Given the description of an element on the screen output the (x, y) to click on. 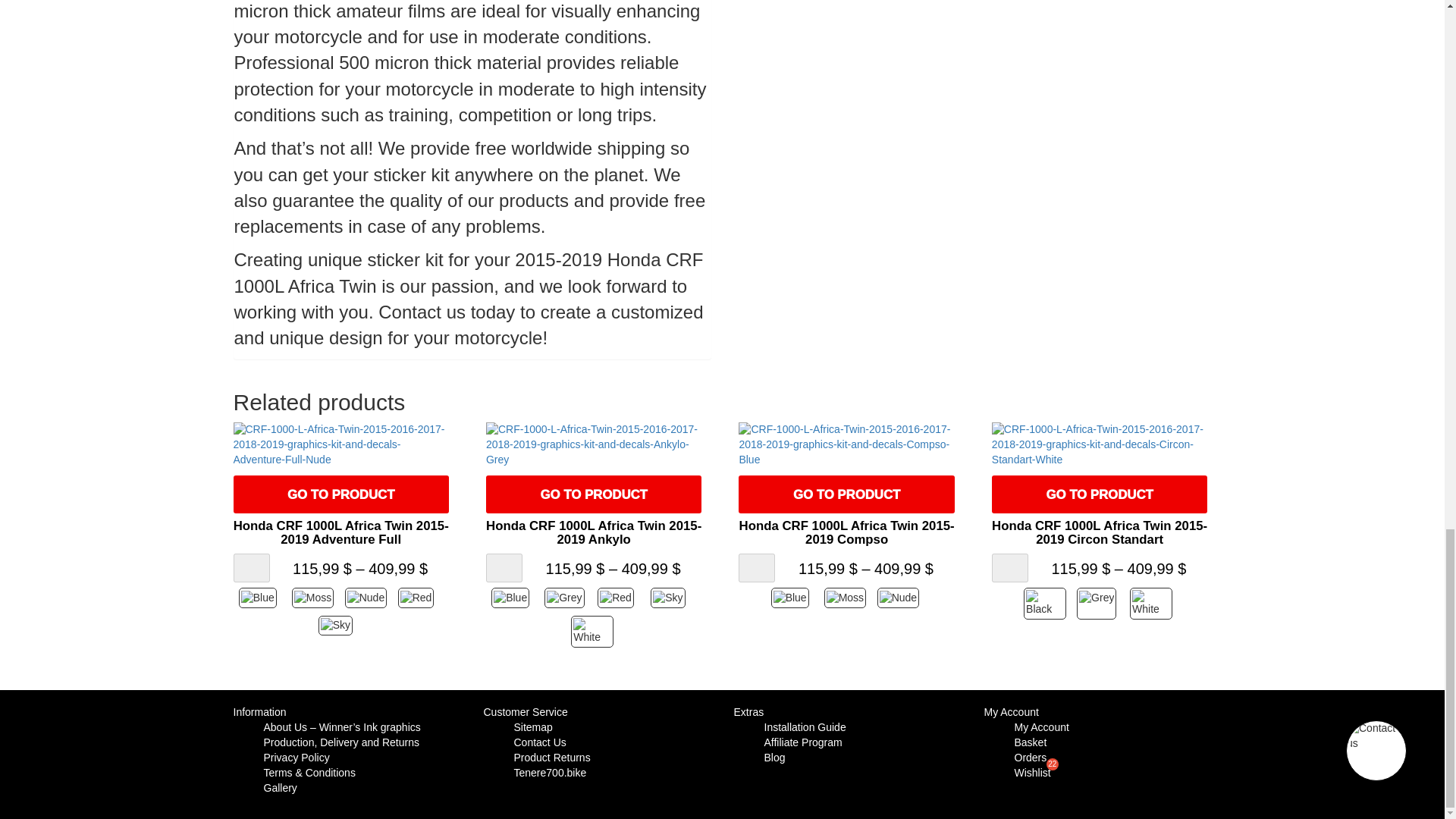
GO TO PRODUCT (593, 493)
Red (420, 597)
GO TO PRODUCT (340, 493)
Moss (314, 597)
Blue (260, 597)
Nude (367, 597)
